Given the description of an element on the screen output the (x, y) to click on. 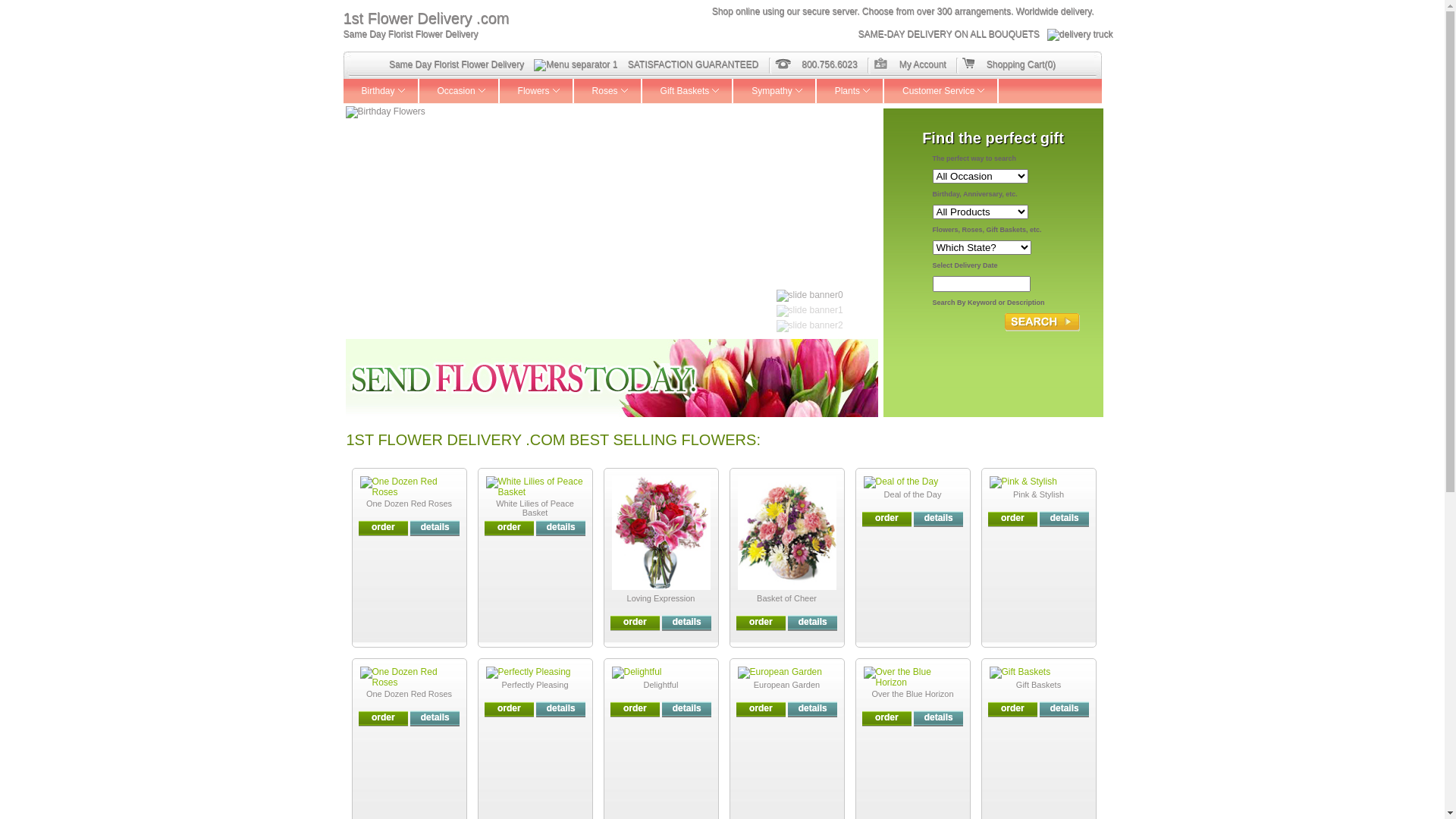
Delightful Element type: text (660, 684)
details Element type: text (686, 707)
Gift Baskets Element type: text (1038, 684)
One Dozen Red Roses Element type: text (408, 693)
Birthday Element type: text (380, 90)
Loving Expression Element type: text (661, 597)
details Element type: text (1063, 517)
Basket of Cheer Element type: text (786, 597)
details Element type: text (560, 707)
order Element type: text (508, 526)
Over the Blue Horizon Element type: text (912, 693)
details Element type: text (1063, 707)
Flowers Element type: text (536, 90)
details Element type: text (812, 707)
Perfectly Pleasing Element type: text (534, 684)
details Element type: text (938, 517)
order Element type: text (382, 717)
order Element type: text (634, 621)
order Element type: text (760, 621)
details Element type: text (686, 621)
details Element type: text (938, 717)
order Element type: text (634, 707)
order Element type: text (760, 707)
Occasion Element type: text (459, 90)
Roses Element type: text (608, 90)
Plants Element type: text (850, 90)
order Element type: text (1012, 517)
details Element type: text (812, 621)
Customer Service Element type: text (941, 90)
White Lilies of Peace Basket Element type: text (534, 507)
order Element type: text (886, 717)
Search Element type: text (1041, 322)
European Garden Element type: text (786, 684)
details Element type: text (434, 717)
One Dozen Red Roses Element type: text (408, 503)
Sympathy Element type: text (774, 90)
Gift Baskets Element type: text (688, 90)
details Element type: text (560, 526)
Deal of the Day Element type: text (912, 493)
Pink & Stylish Element type: text (1038, 493)
order Element type: text (1012, 707)
details Element type: text (434, 526)
order Element type: text (508, 707)
order Element type: text (886, 517)
order Element type: text (382, 526)
